Given the description of an element on the screen output the (x, y) to click on. 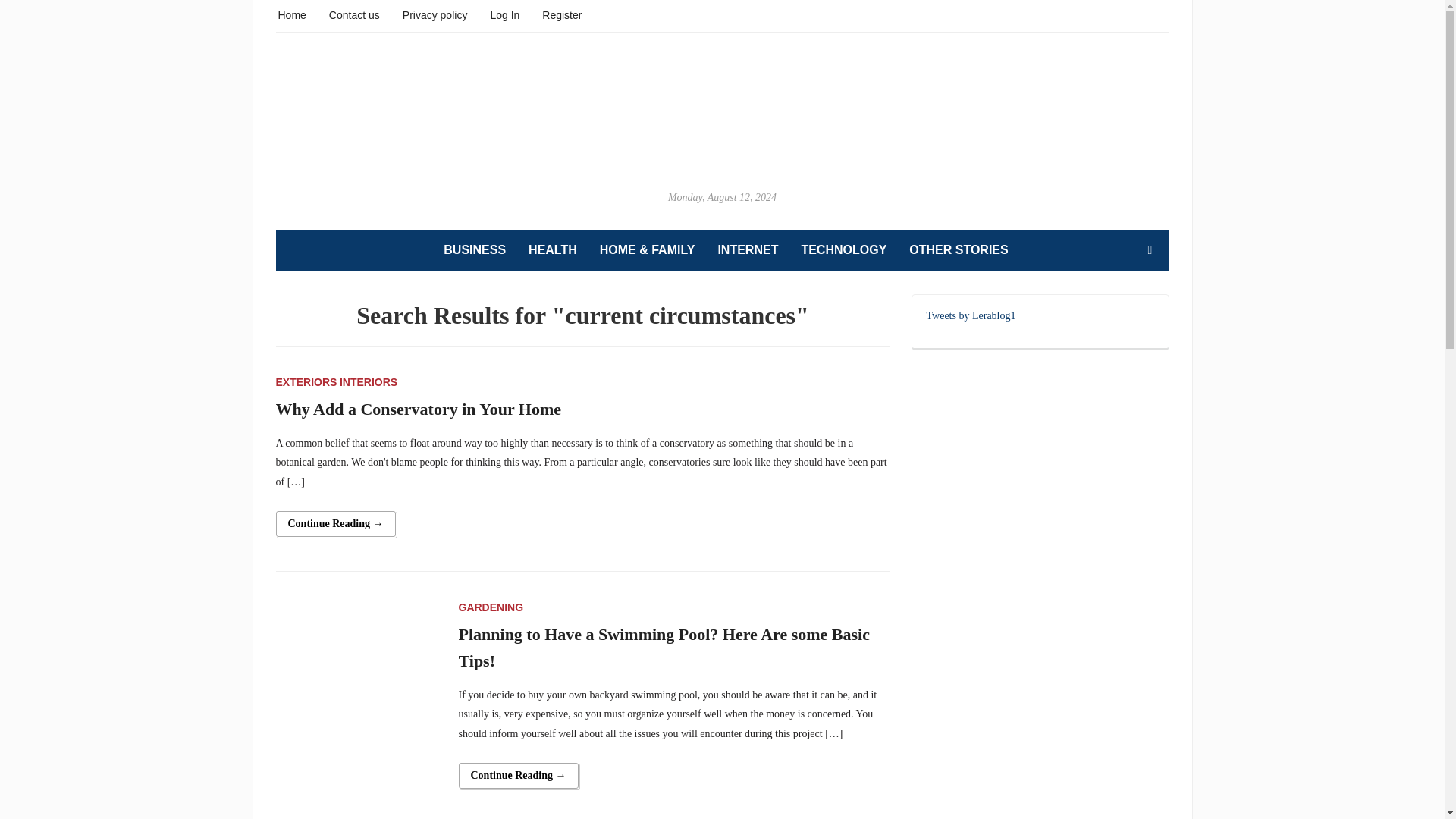
Log In (504, 14)
Contact us (354, 14)
Permalink to Why Add a Conservatory in Your Home (336, 524)
Planning to Have a Swimming Pool? Here Are some Basic Tips! (357, 678)
Register (560, 14)
Search (1149, 250)
Privacy policy (435, 14)
Home (291, 14)
